Given the description of an element on the screen output the (x, y) to click on. 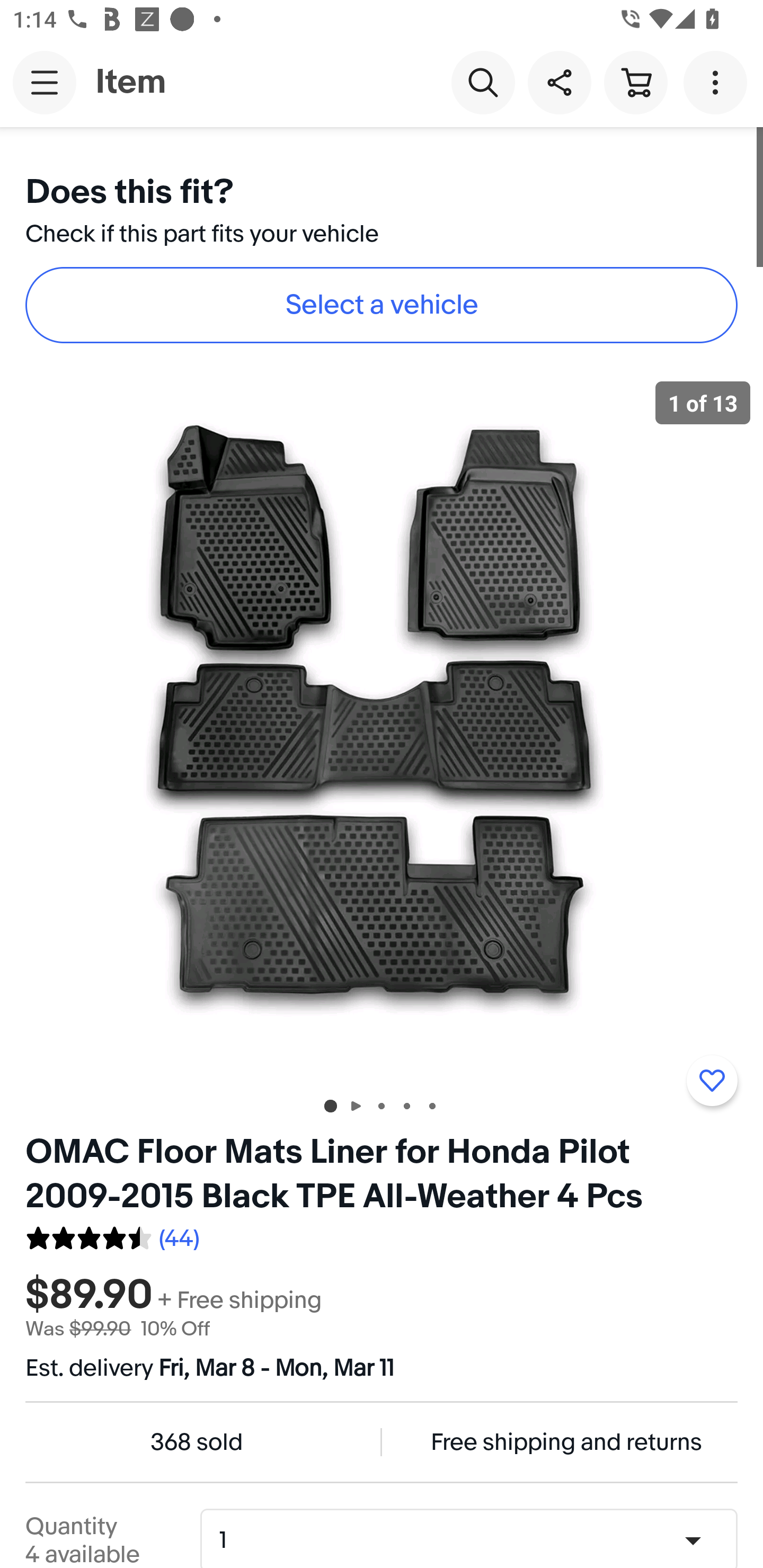
Main navigation, open (44, 82)
Search (482, 81)
Share this item (559, 81)
Cart button shopping cart (635, 81)
More options (718, 81)
Select a vehicle (381, 304)
Item image 1 of 13 (381, 724)
Add to watchlist (711, 1080)
Quantity,1,4 available 1 (474, 1540)
